Given the description of an element on the screen output the (x, y) to click on. 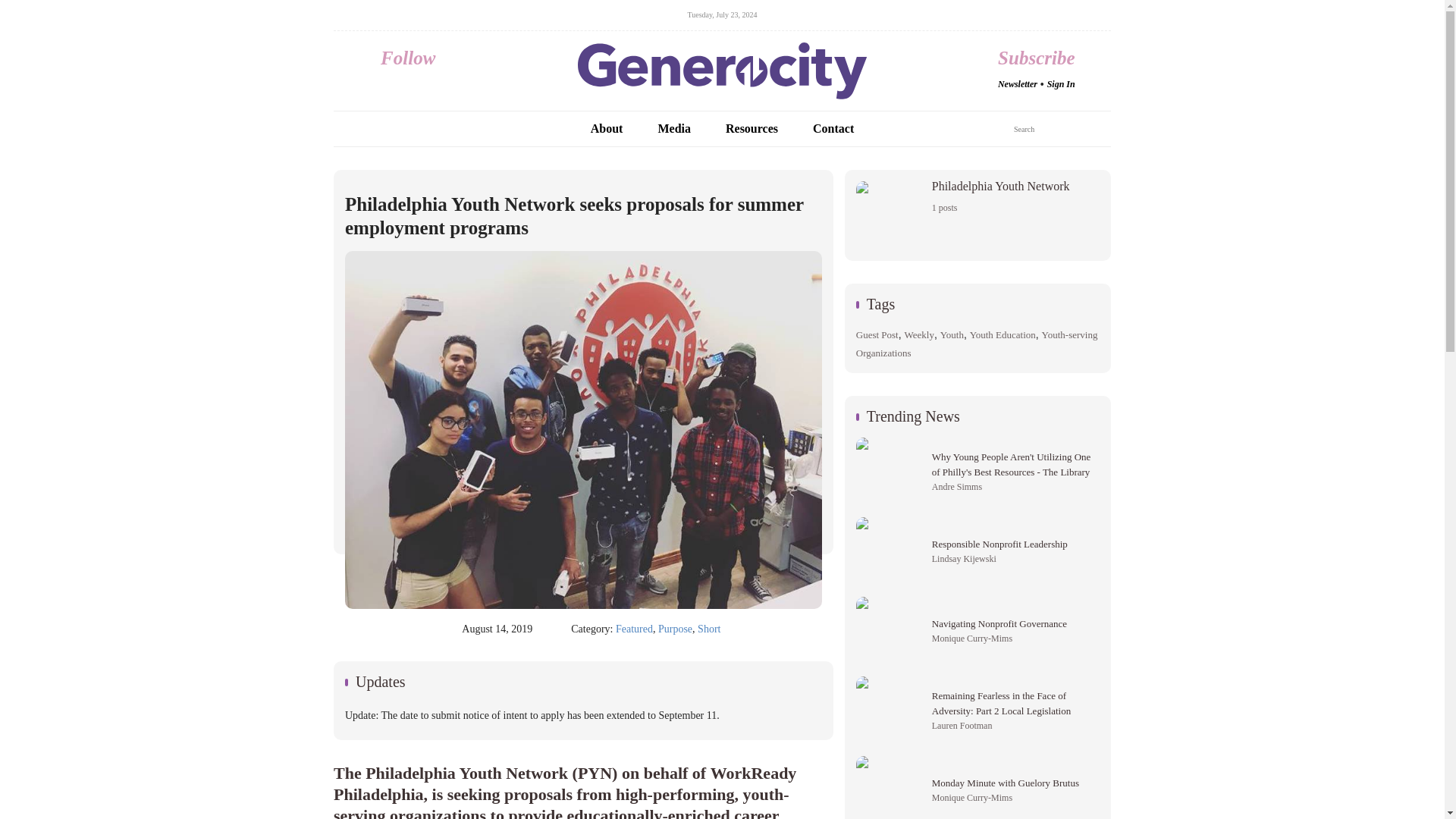
Media (680, 128)
Guest Post (877, 334)
Sign In (1060, 83)
Purpose (675, 628)
Youth-serving Organizations (976, 343)
Newsletter (1016, 83)
Featured (633, 628)
Youth (951, 334)
Resources (757, 128)
Weekly (919, 334)
Contact (977, 215)
Youth Education (832, 128)
About (1002, 334)
